Given the description of an element on the screen output the (x, y) to click on. 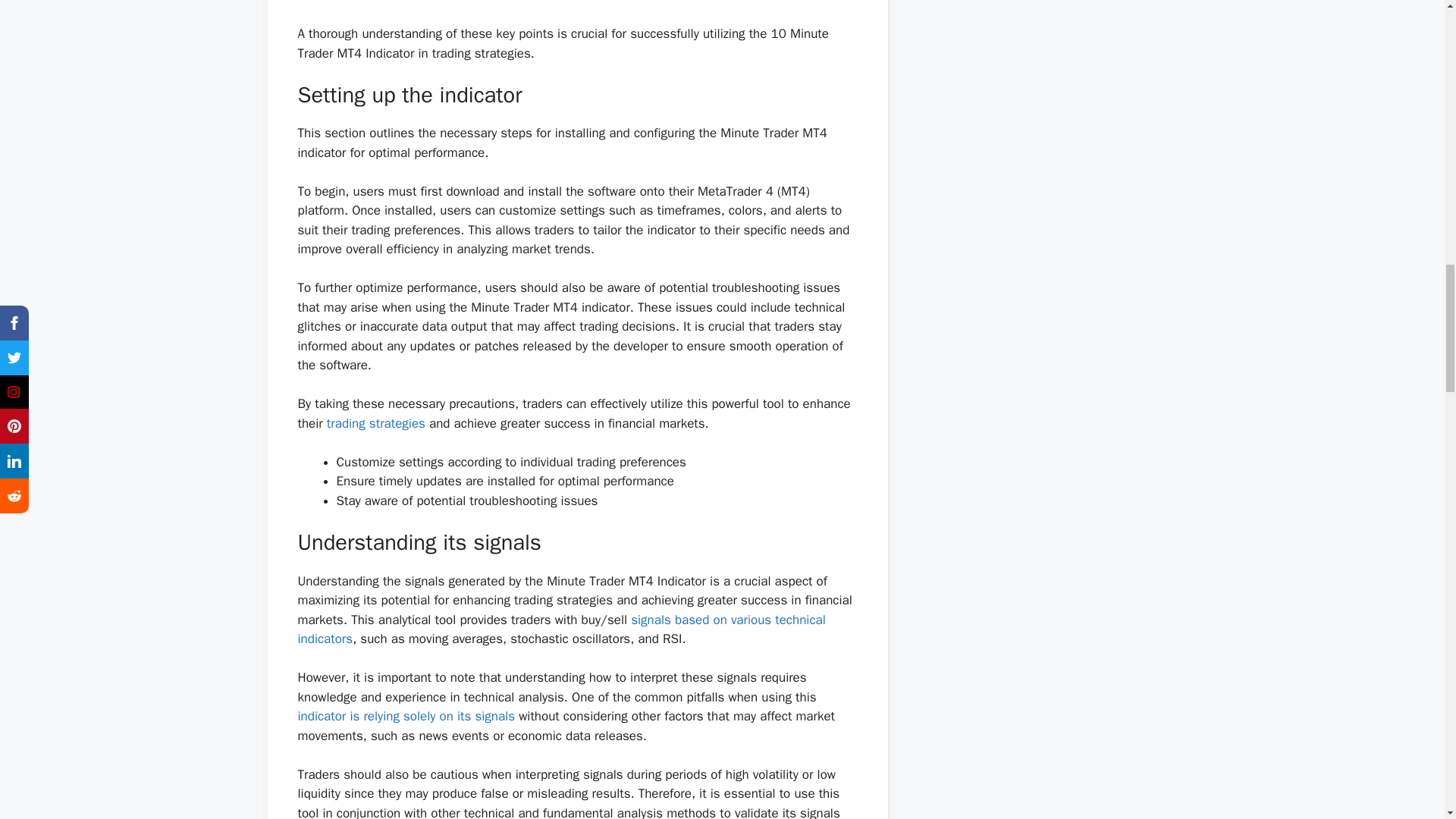
trading strategies (375, 423)
